Given the description of an element on the screen output the (x, y) to click on. 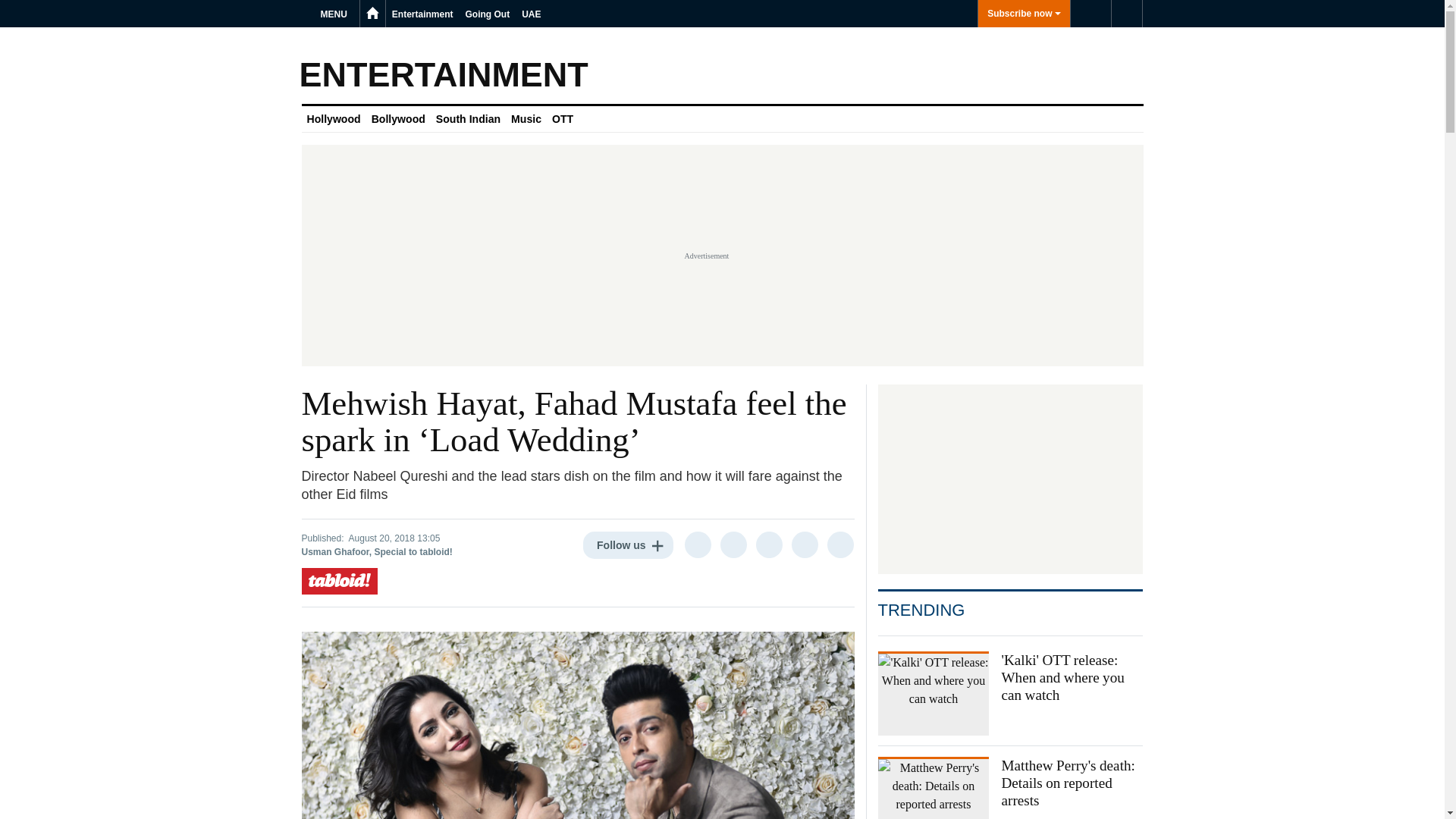
Entertainment (422, 13)
Going Out (488, 13)
UAE (531, 13)
Subscribe now (1024, 13)
MENU (336, 13)
